Given the description of an element on the screen output the (x, y) to click on. 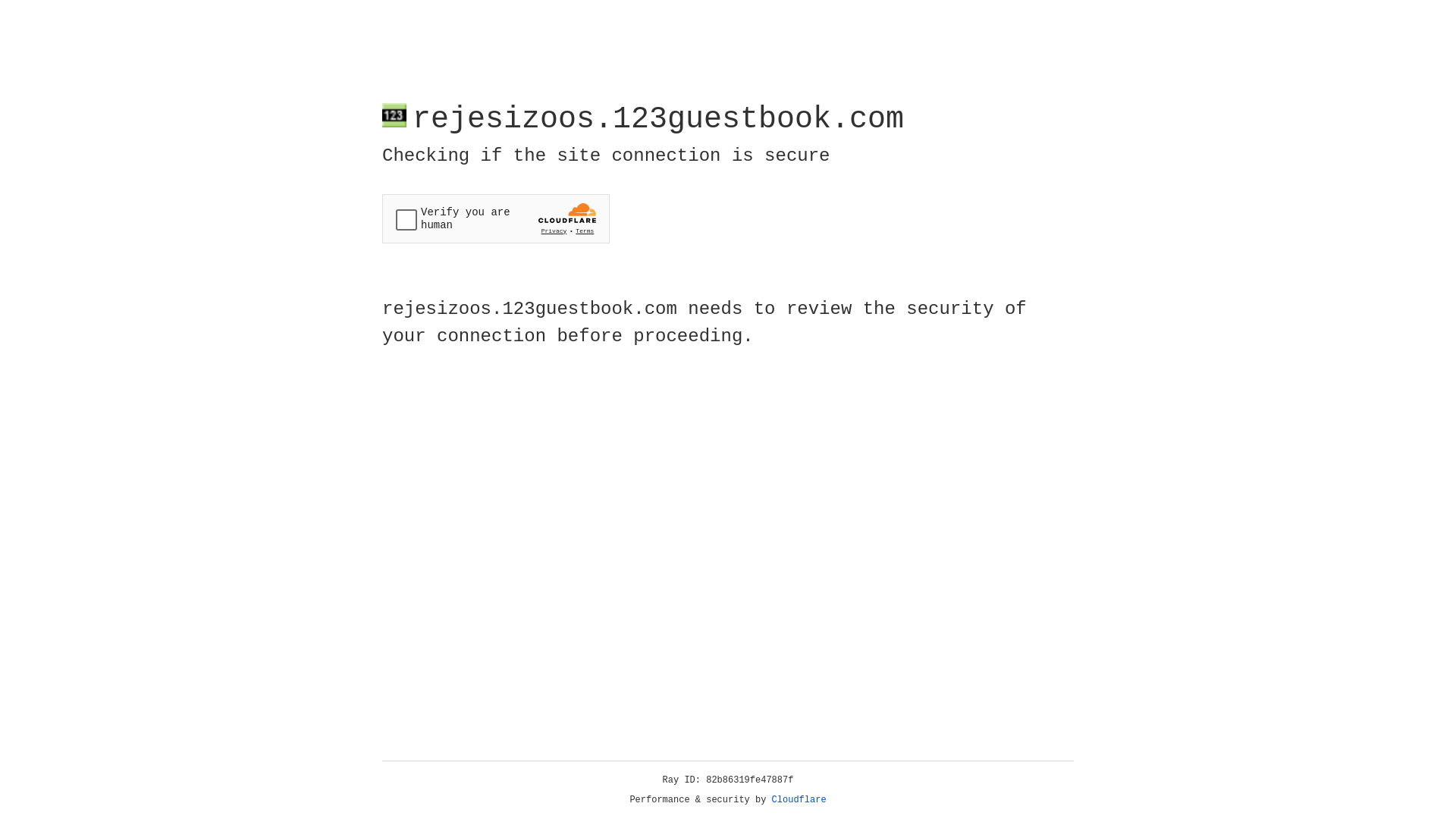
Cloudflare Element type: text (798, 799)
Widget containing a Cloudflare security challenge Element type: hover (495, 218)
